Given the description of an element on the screen output the (x, y) to click on. 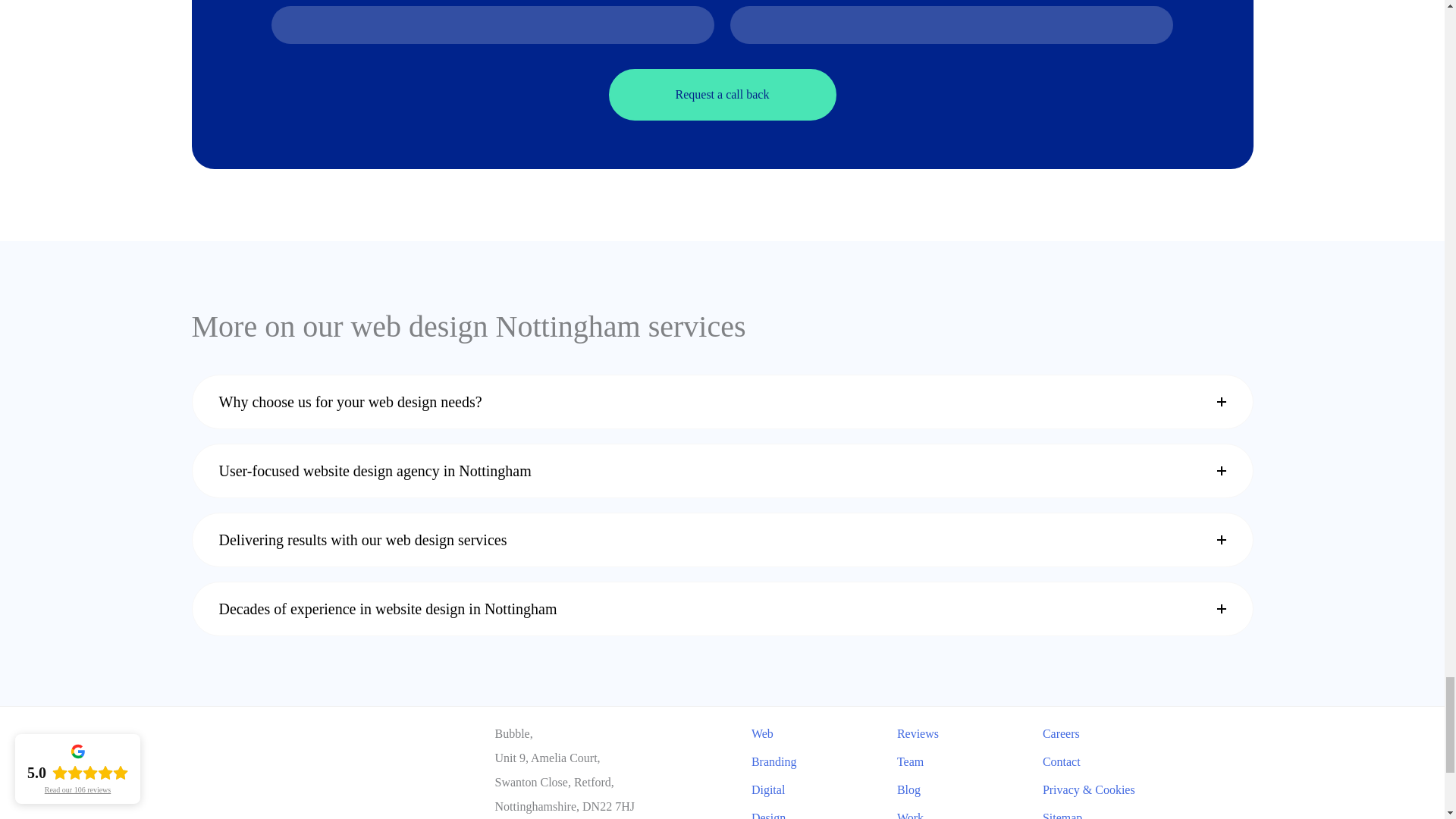
Request a call back (721, 94)
